Given the description of an element on the screen output the (x, y) to click on. 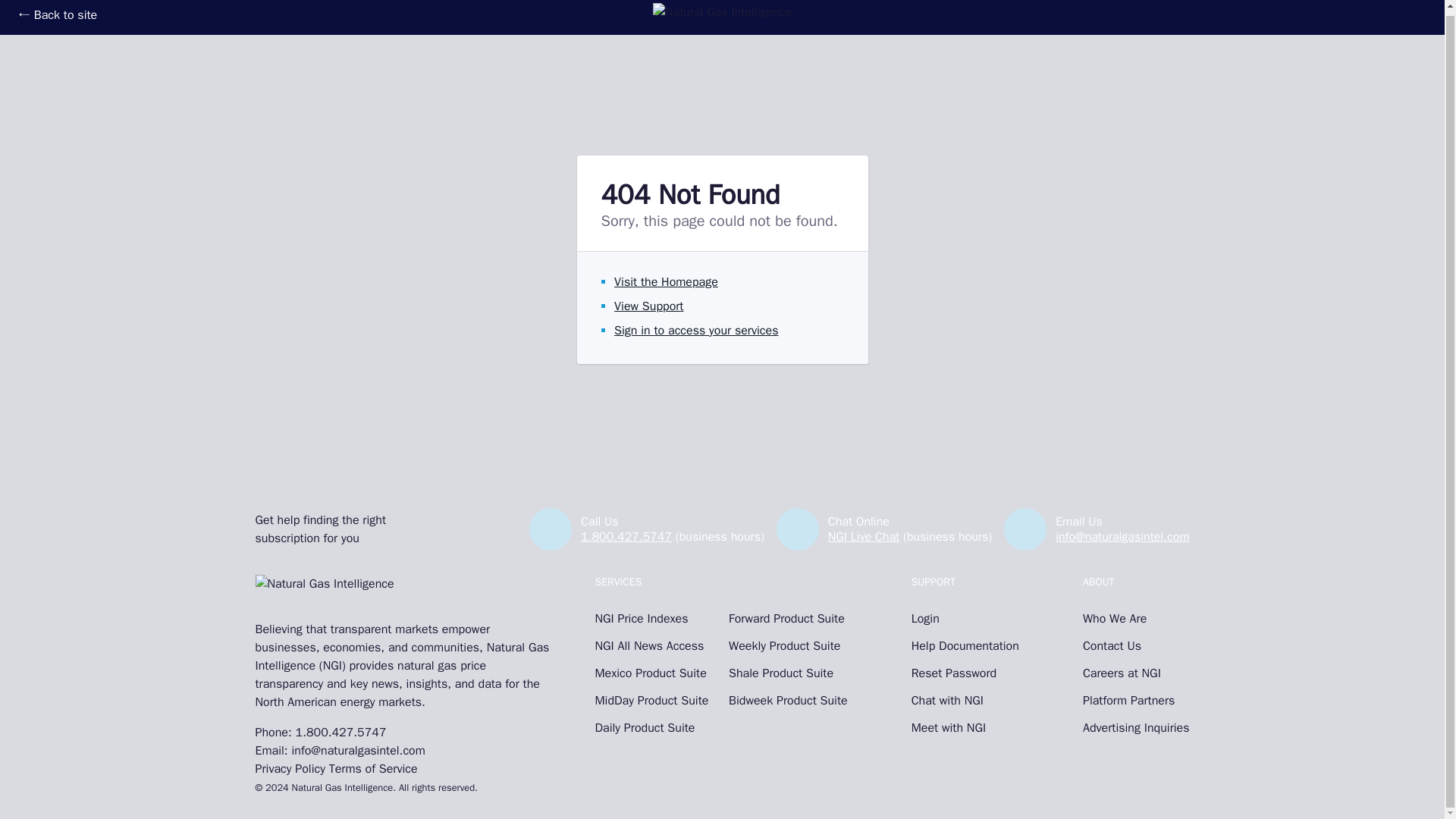
Bidweek Product Suite (788, 700)
Daily Product Suite (653, 728)
Careers at NGI (1136, 673)
Shale Product Suite (788, 673)
Forward Product Suite (788, 618)
Mexico Product Suite (653, 673)
Chat with NGI (965, 700)
Reset Password (965, 673)
1.800.427.5747 (341, 732)
Privacy Policy (289, 768)
